Given the description of an element on the screen output the (x, y) to click on. 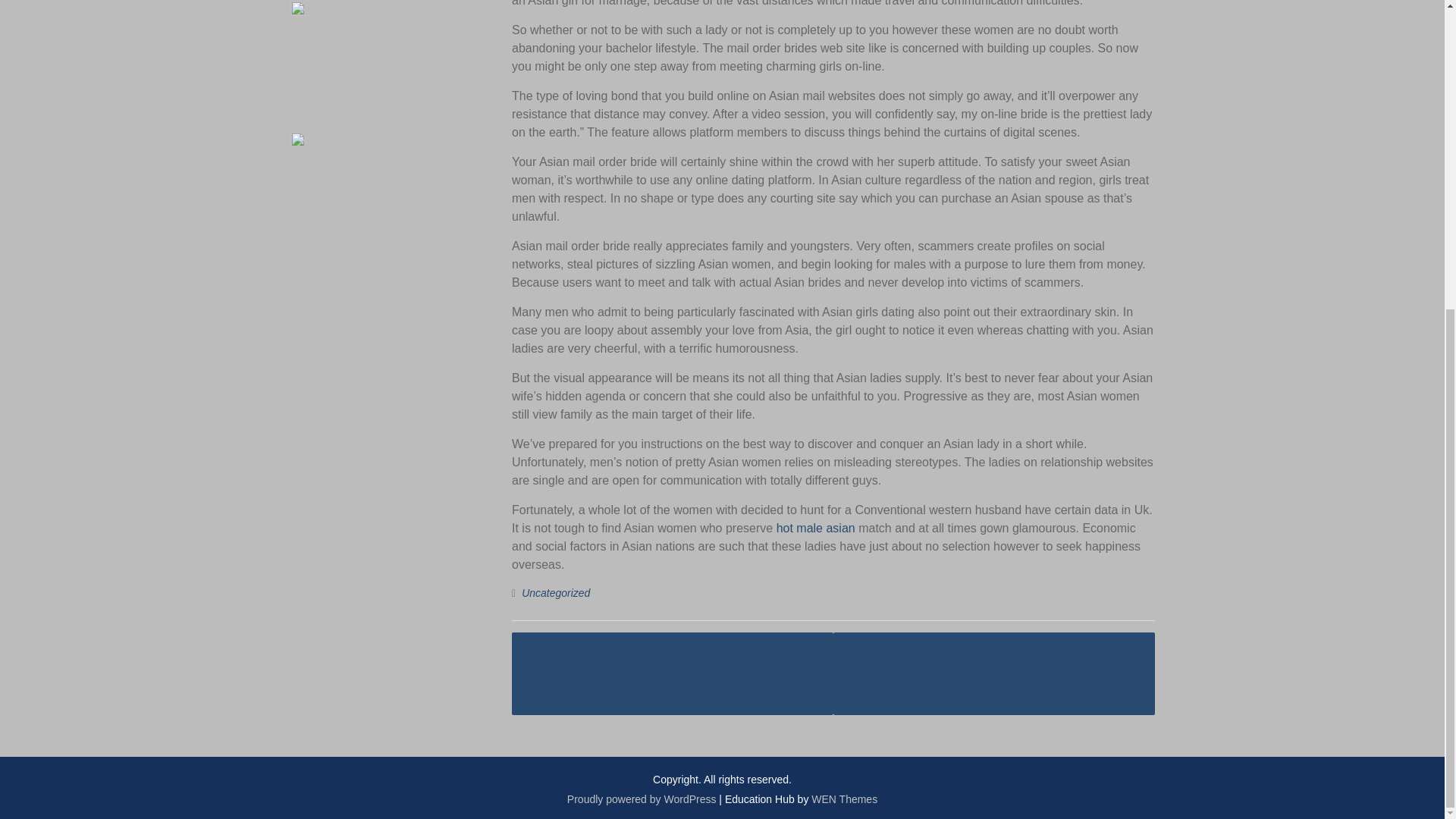
The Best Reason You Should Not Buy Japanese Bride (993, 673)
hot male asian (816, 527)
Uncategorized (555, 592)
Essential Bits Of Lebanese Wife (672, 673)
